Given the description of an element on the screen output the (x, y) to click on. 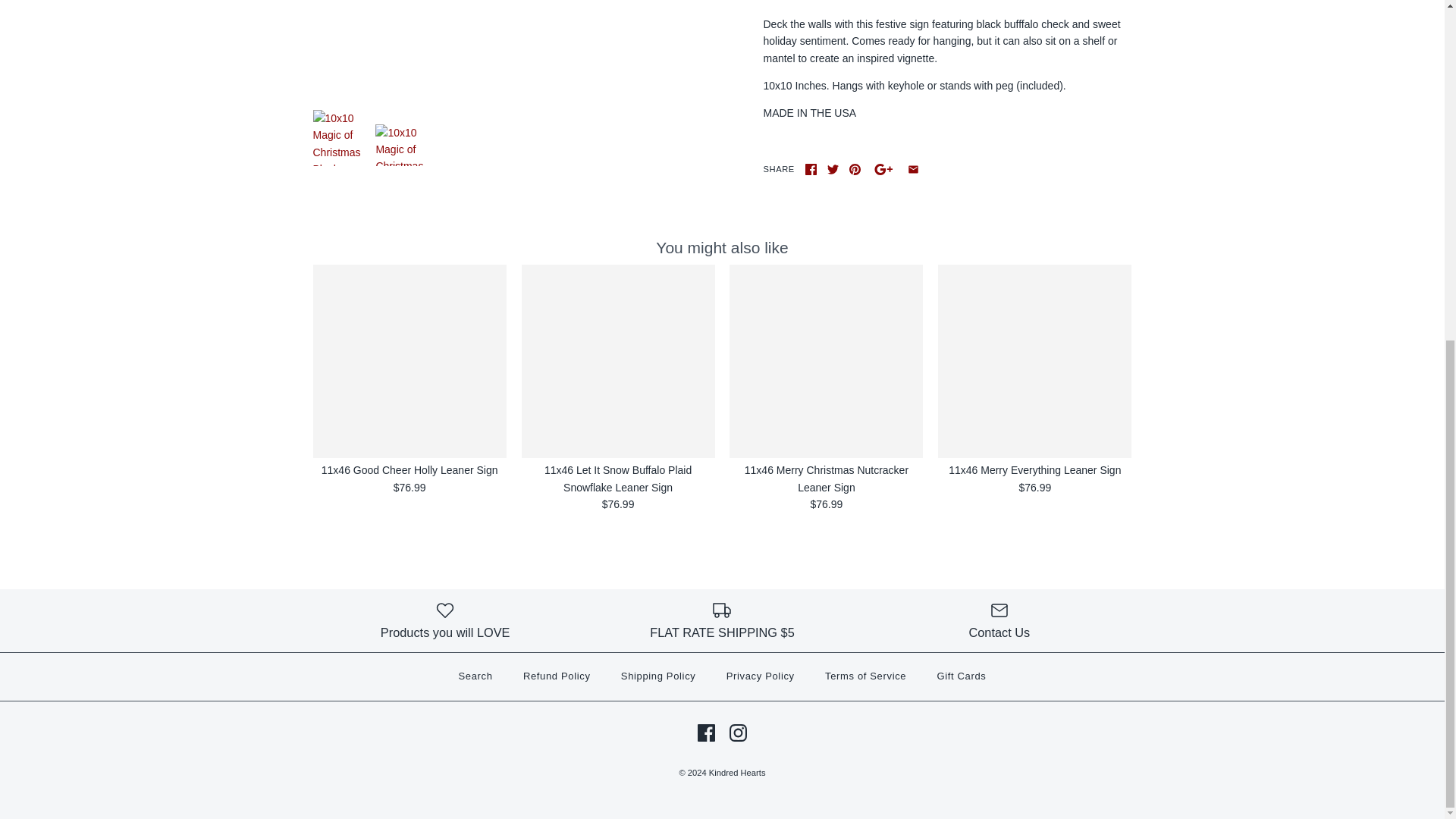
10x10 Magic of Christmas Black Buffalo Check Sign (497, 47)
Share on Facebook (810, 169)
GooglePlus (883, 169)
Instagram (737, 732)
10x10 Magic of Christmas Black Buffalo Check Sign (402, 145)
Facebook (705, 732)
Pinterest (854, 169)
10x10 Magic of Christmas Black Buffalo Check Sign (340, 137)
Email (912, 169)
Share using email (912, 169)
Twitter (832, 169)
Pin the main image (854, 169)
Share on Twitter (832, 169)
Facebook (810, 169)
